Given the description of an element on the screen output the (x, y) to click on. 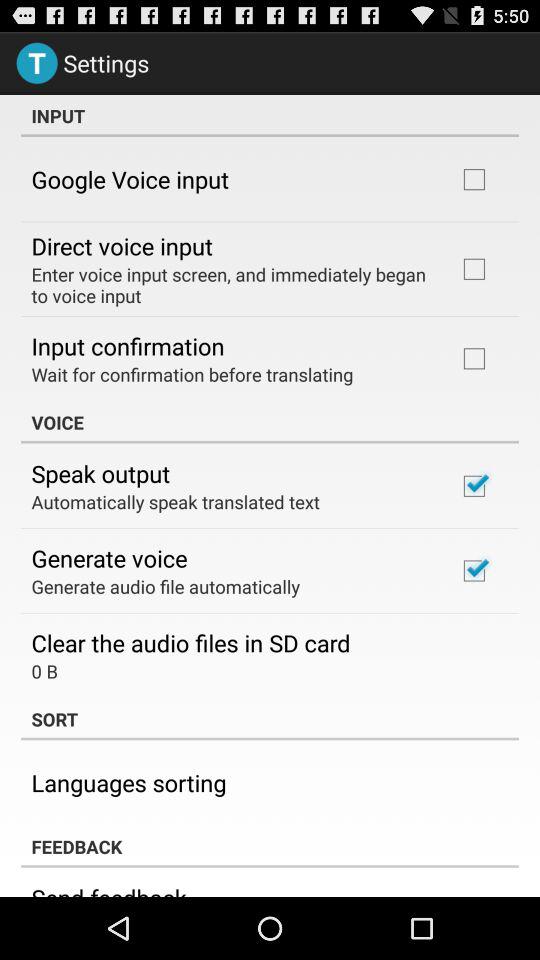
scroll to the sort icon (270, 719)
